Given the description of an element on the screen output the (x, y) to click on. 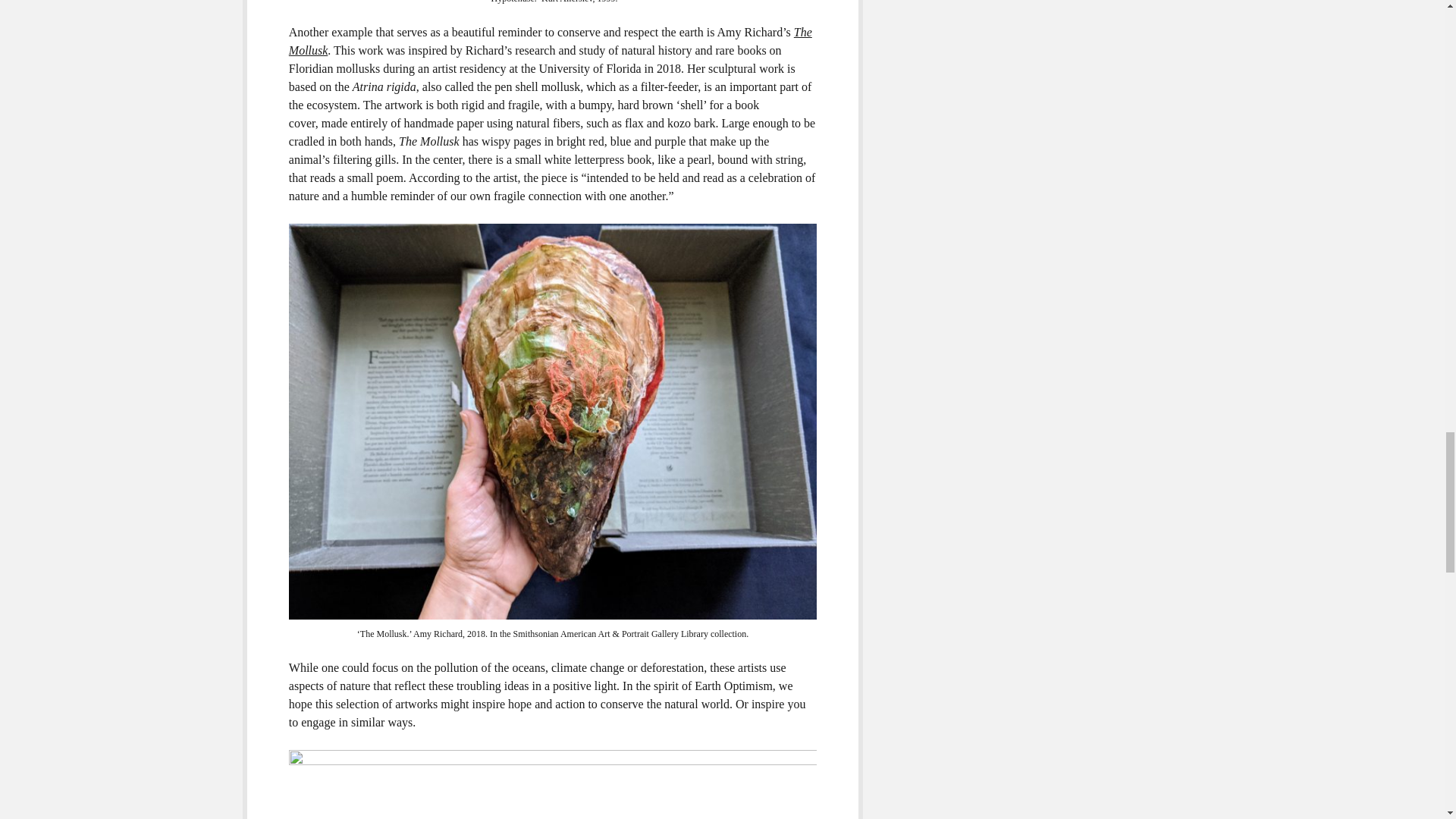
The Mollusk (550, 40)
